Given the description of an element on the screen output the (x, y) to click on. 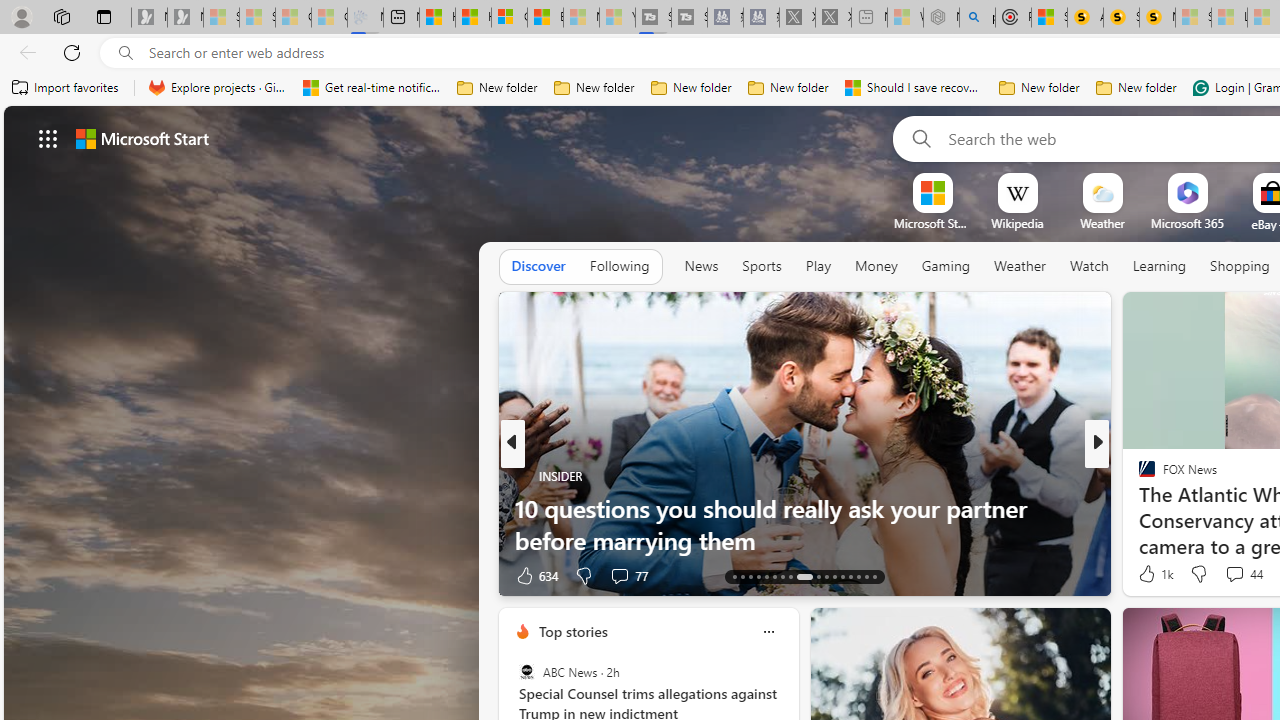
INSIDER (522, 475)
View comments 44 Comment (1243, 574)
AutomationID: tab-25 (842, 576)
AutomationID: tab-27 (857, 576)
Should I save recovered Word documents? - Microsoft Support (913, 88)
Search icon (125, 53)
AutomationID: tab-13 (733, 576)
Nordace.com (1165, 507)
AutomationID: tab-28 (865, 576)
Wikipedia (1017, 223)
Play (818, 267)
AutomationID: tab-19 (782, 576)
View comments 5 Comment (1229, 575)
